Given the description of an element on the screen output the (x, y) to click on. 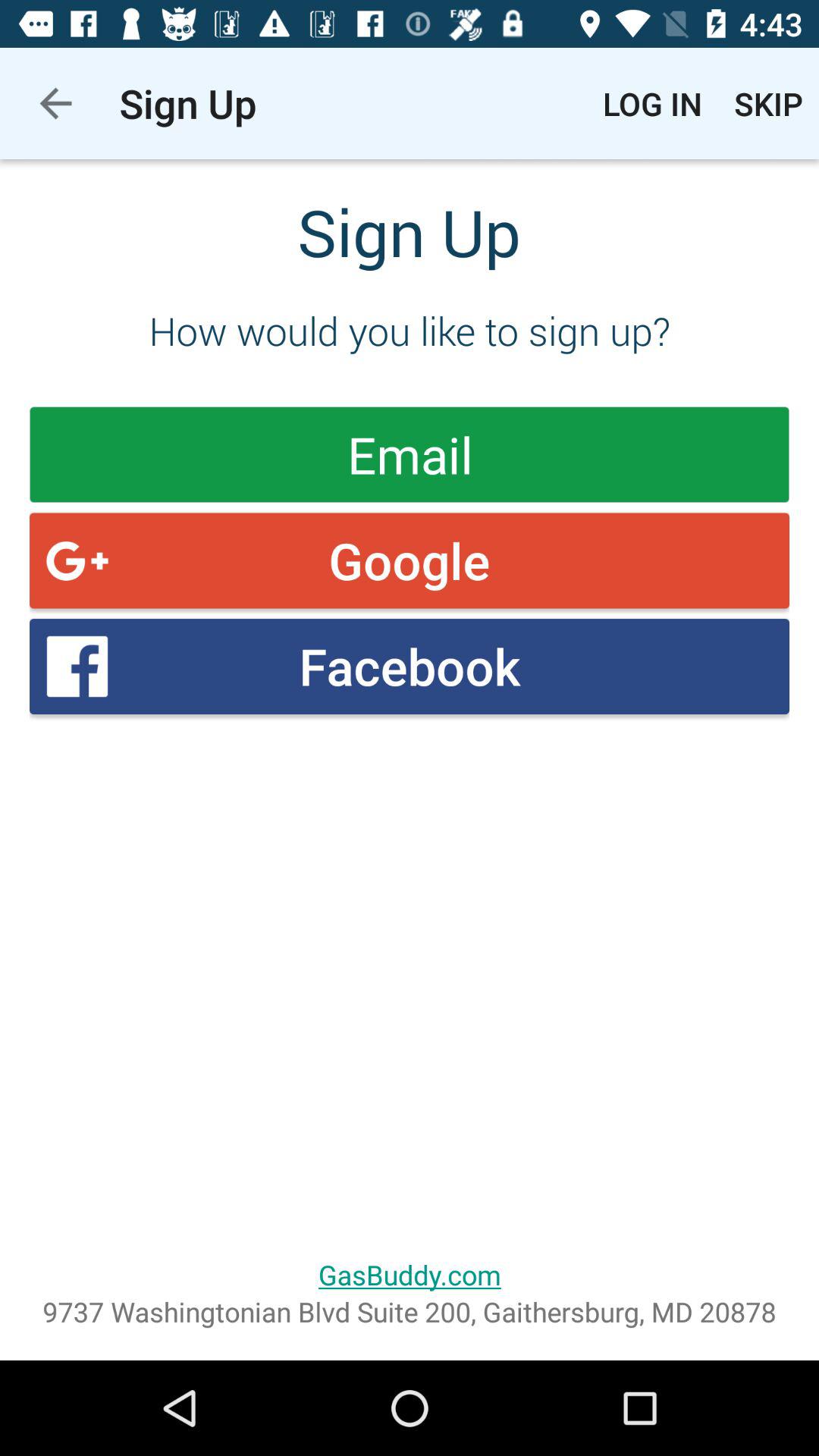
open the item below facebook (409, 1274)
